Given the description of an element on the screen output the (x, y) to click on. 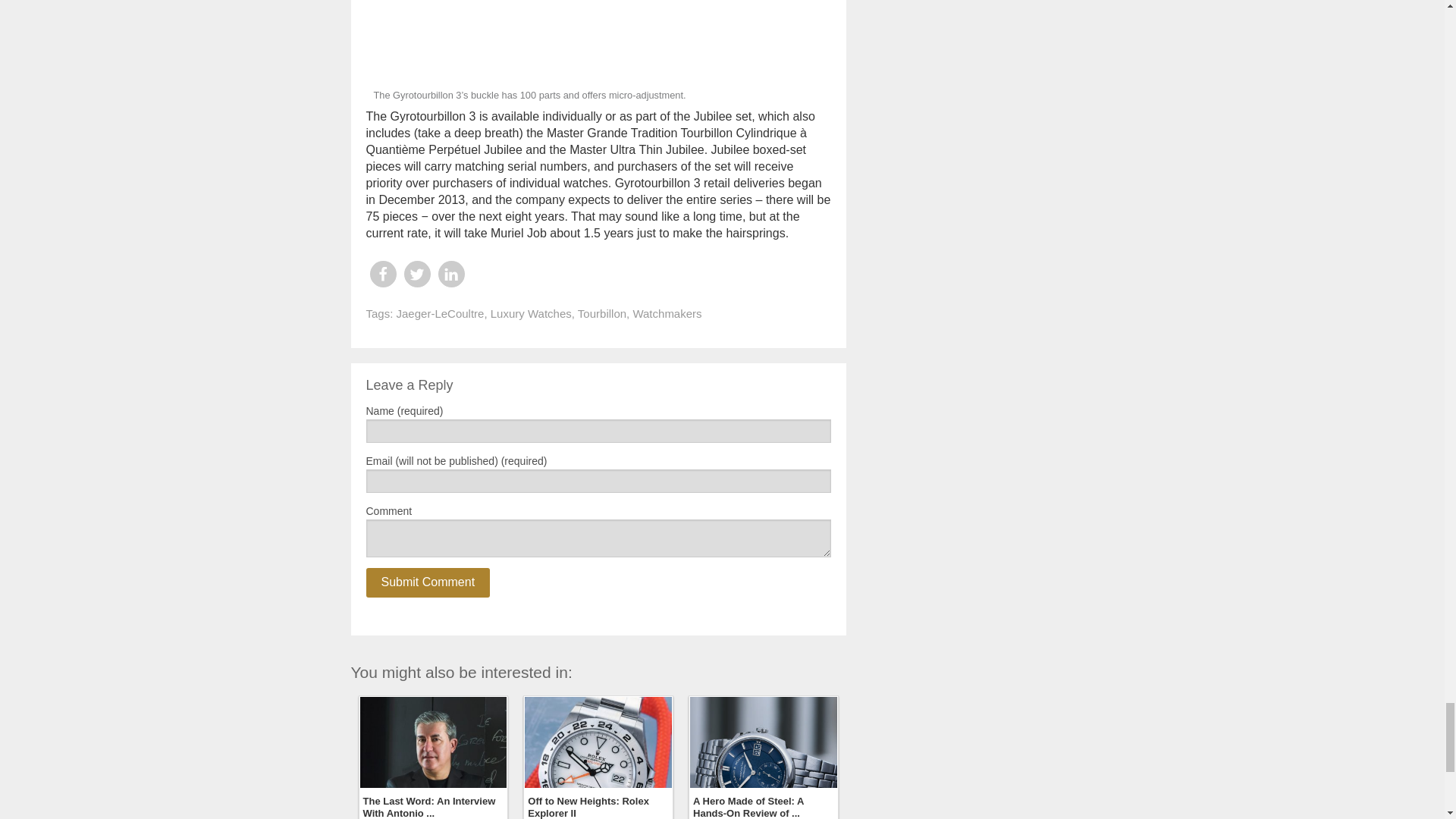
Share on LinkedIn (451, 274)
Share on Facebook (382, 274)
Share on Twitter (416, 274)
Submit Comment (427, 582)
